Given the description of an element on the screen output the (x, y) to click on. 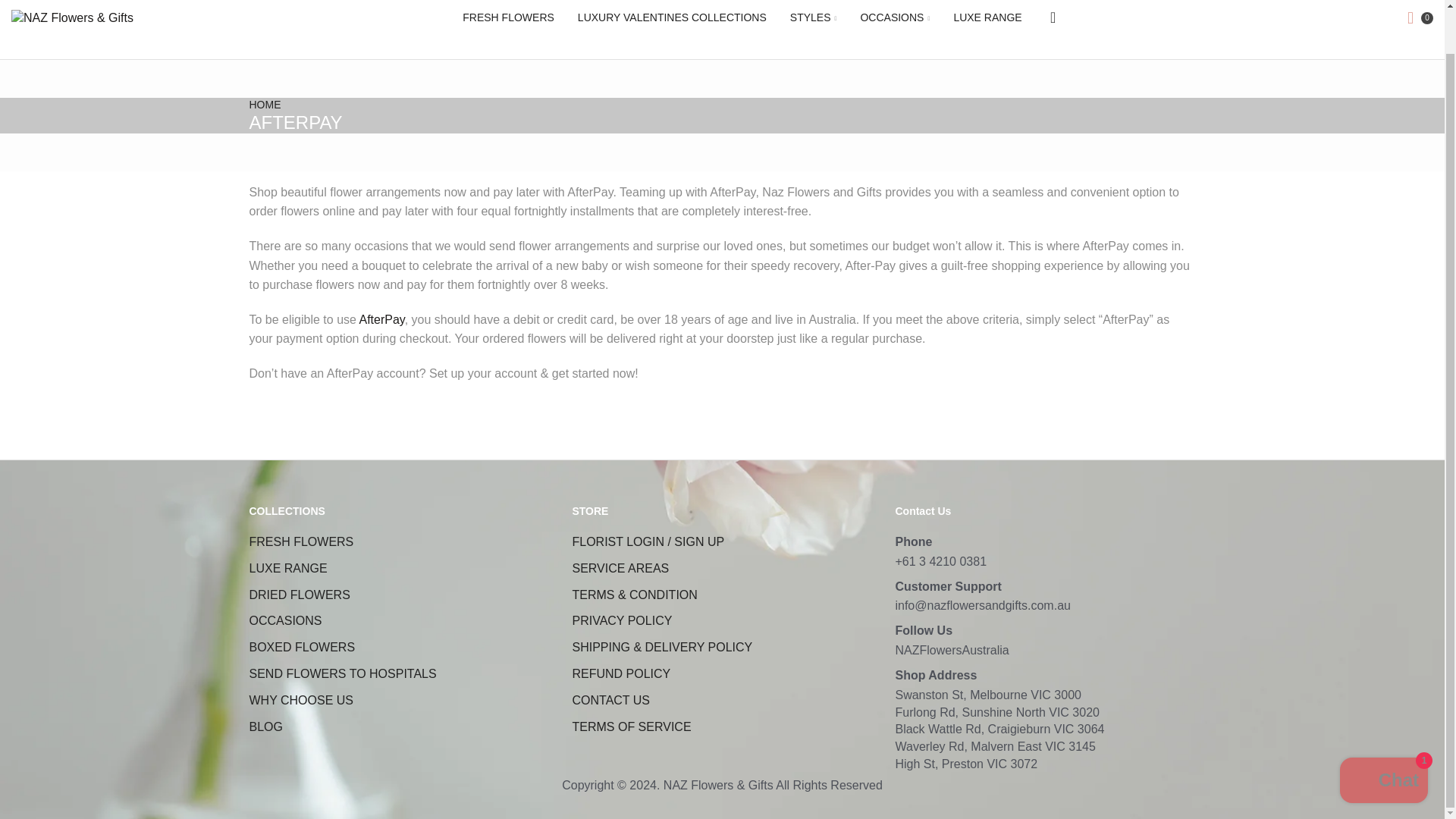
Shopping cart (1417, 17)
STYLES (813, 18)
FRESH FLOWERS (508, 18)
Shopify online store chat (1383, 735)
LUXURY VALENTINES COLLECTIONS (672, 18)
